Given the description of an element on the screen output the (x, y) to click on. 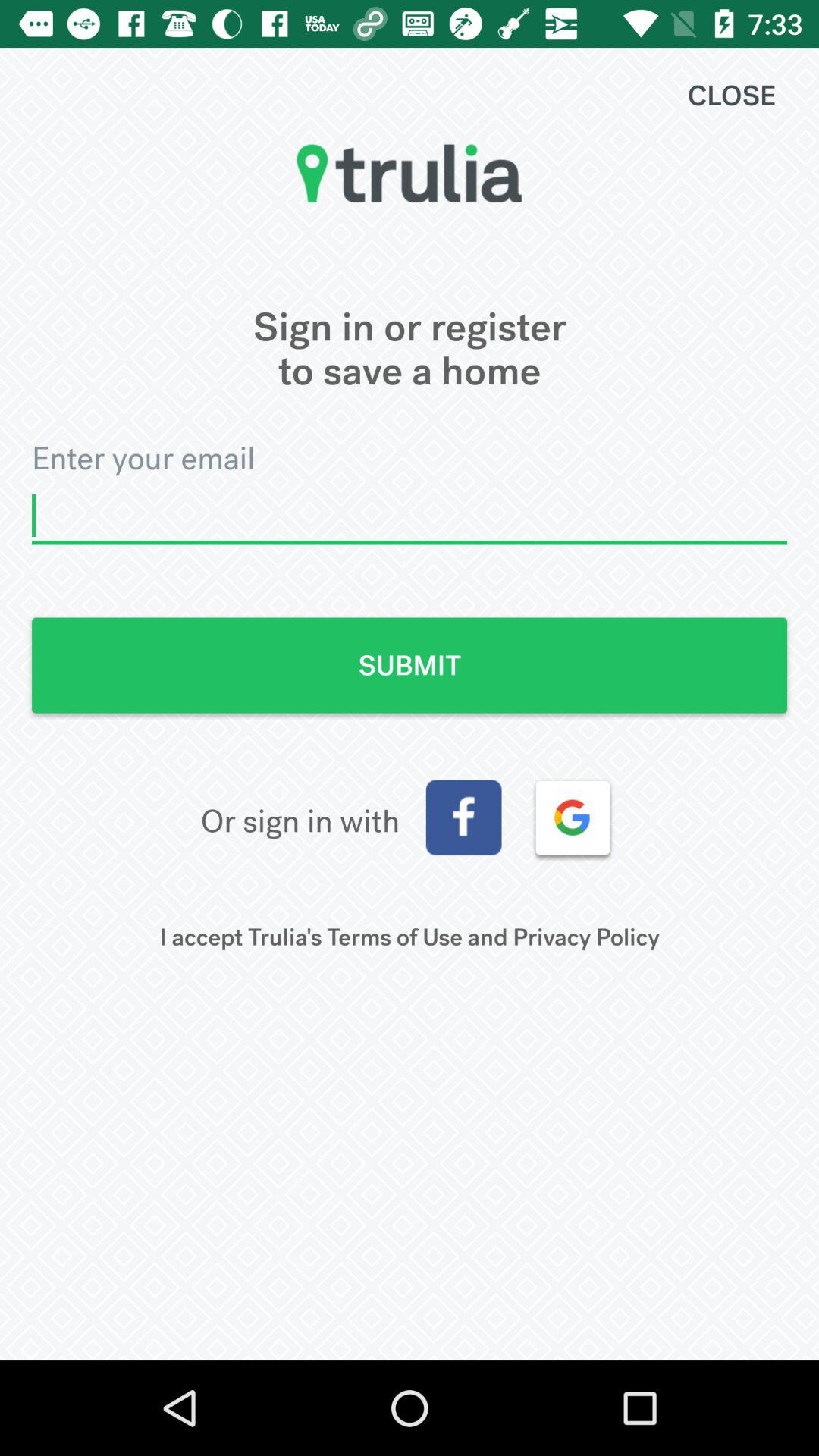
sign up with google account (572, 817)
